Given the description of an element on the screen output the (x, y) to click on. 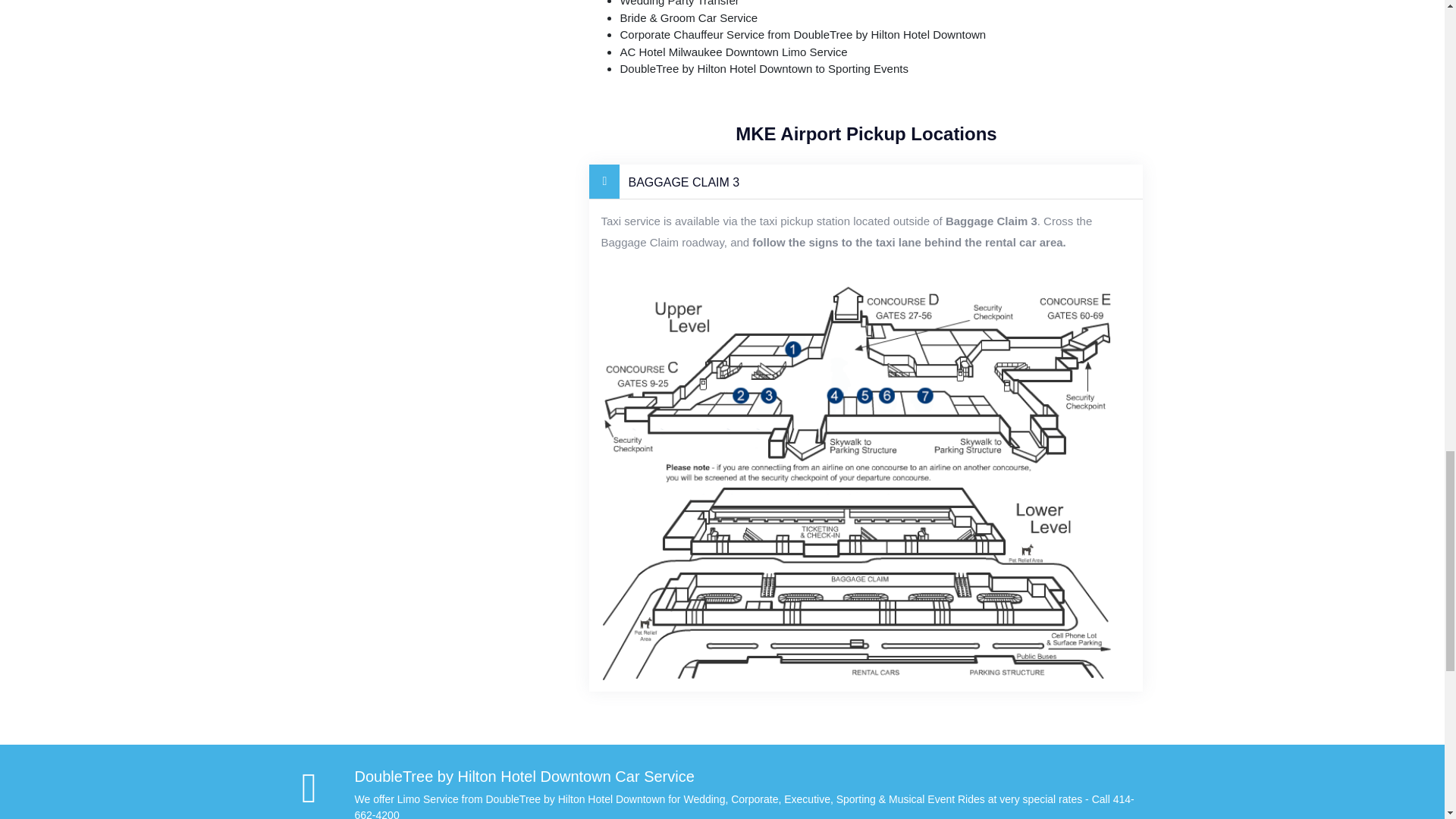
BAGGAGE CLAIM 3 (865, 181)
